Given the description of an element on the screen output the (x, y) to click on. 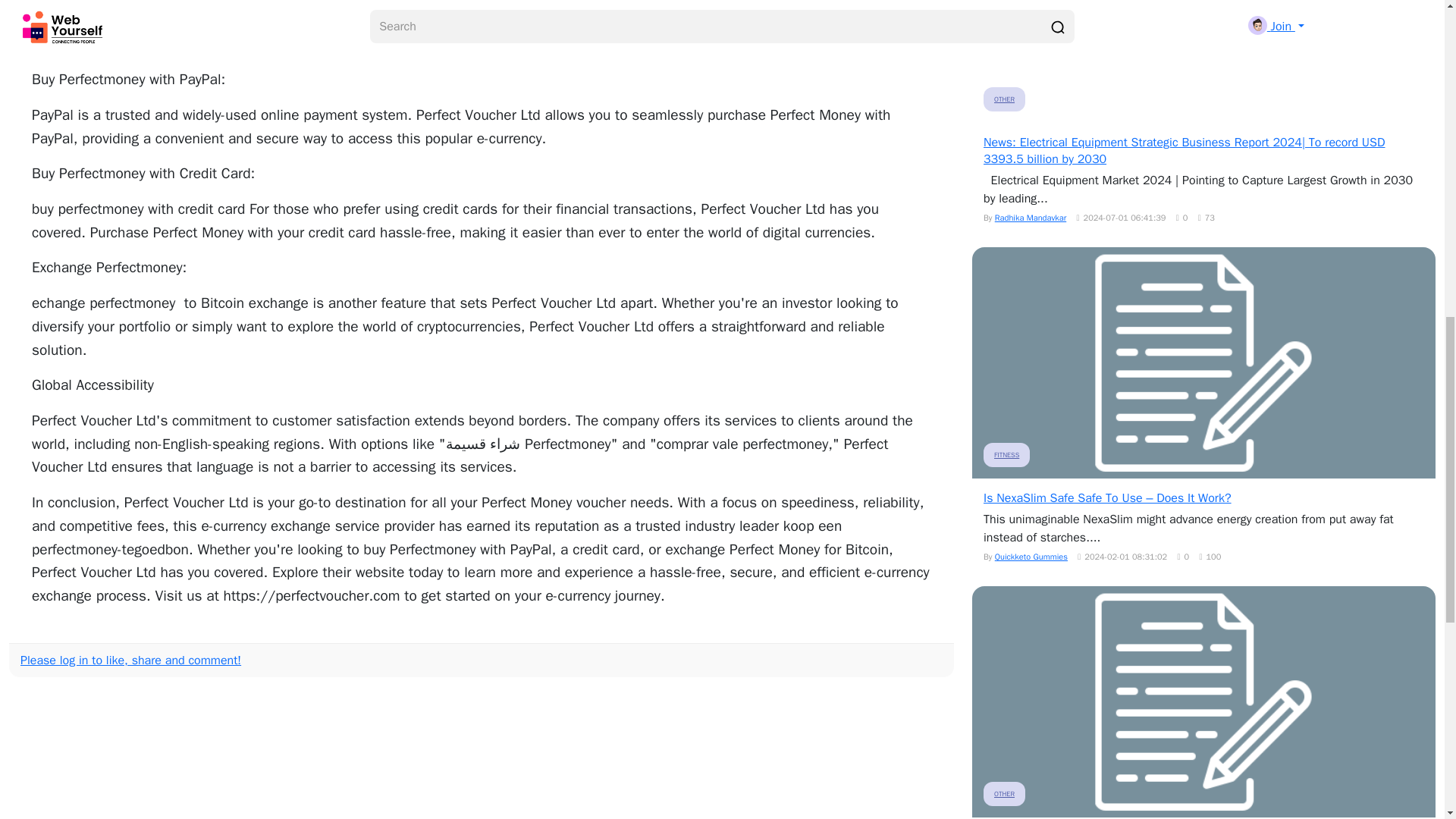
Please log in to like, share and comment! (130, 660)
